Given the description of an element on the screen output the (x, y) to click on. 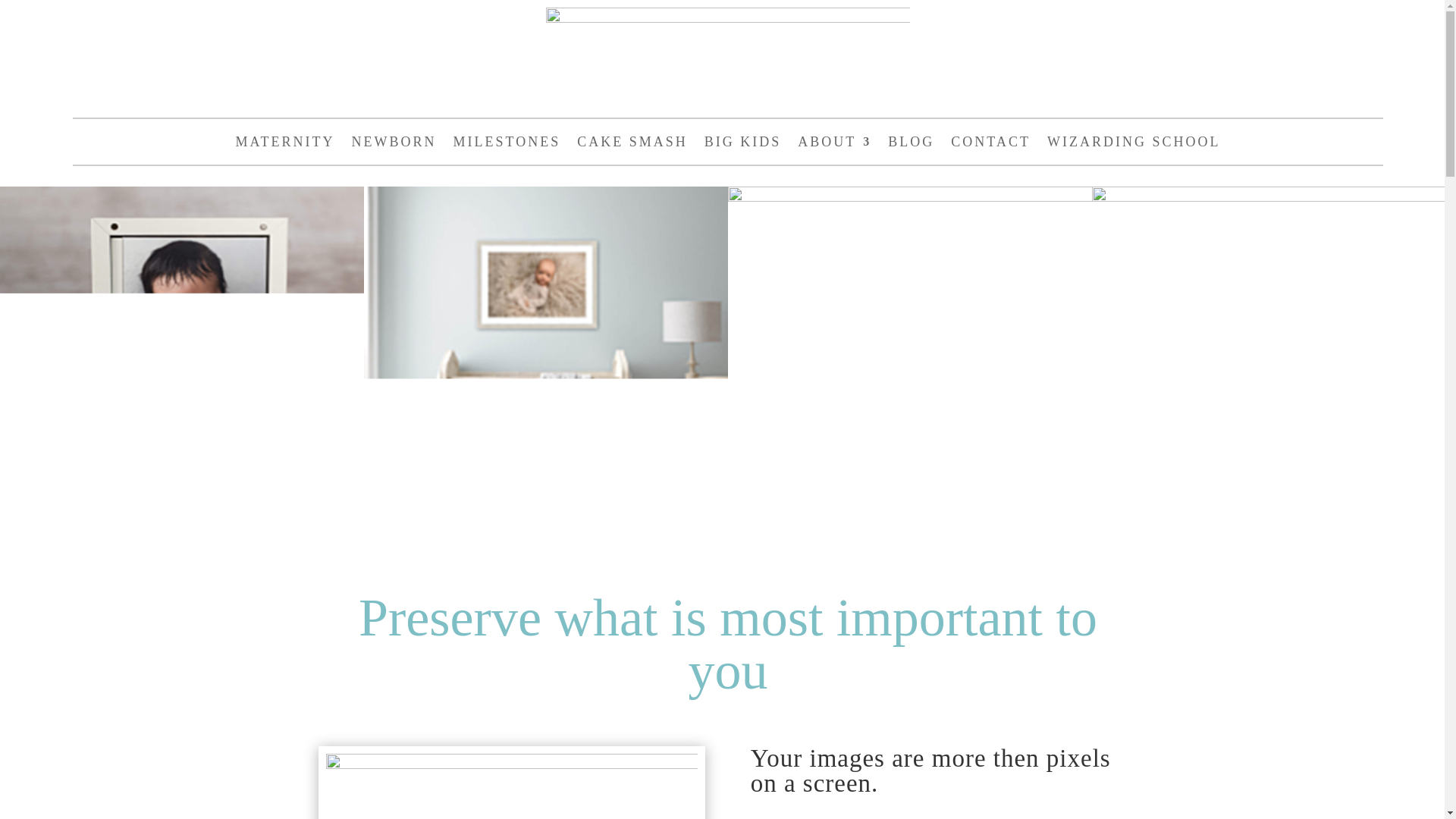
BIG KIDS (742, 144)
WIZARDING SCHOOL (1133, 144)
CAKE SMASH (631, 144)
MATERNITY (284, 144)
unnamed (728, 44)
MILESTONES (506, 144)
ABOUT (833, 144)
BlueRoomWallArt (546, 368)
BLOG (911, 144)
NEWBORN (394, 144)
CONTACT (990, 144)
LivingRoomWallArtCrop (511, 786)
